Given the description of an element on the screen output the (x, y) to click on. 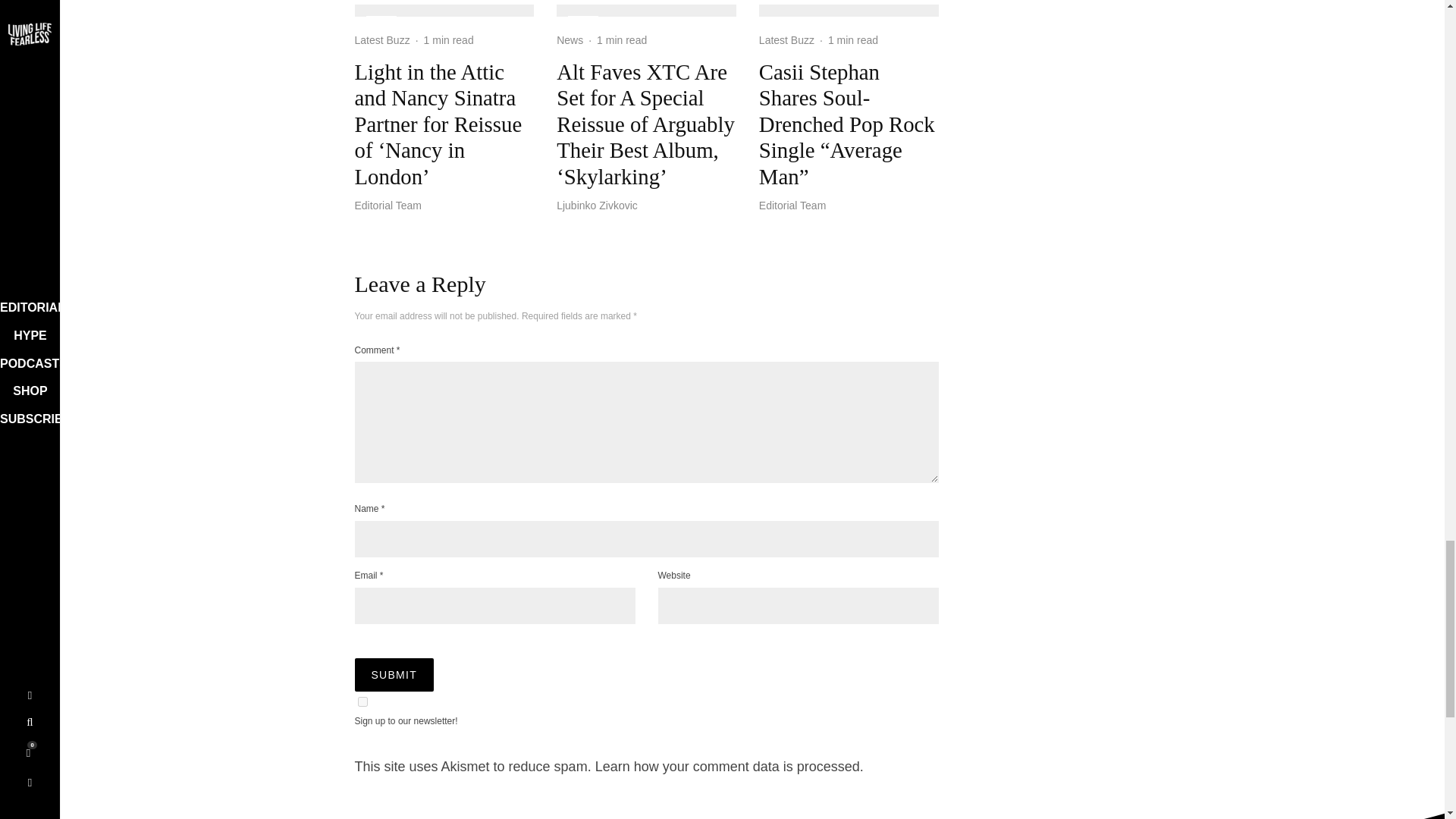
1 (363, 701)
Submit (394, 674)
